Given the description of an element on the screen output the (x, y) to click on. 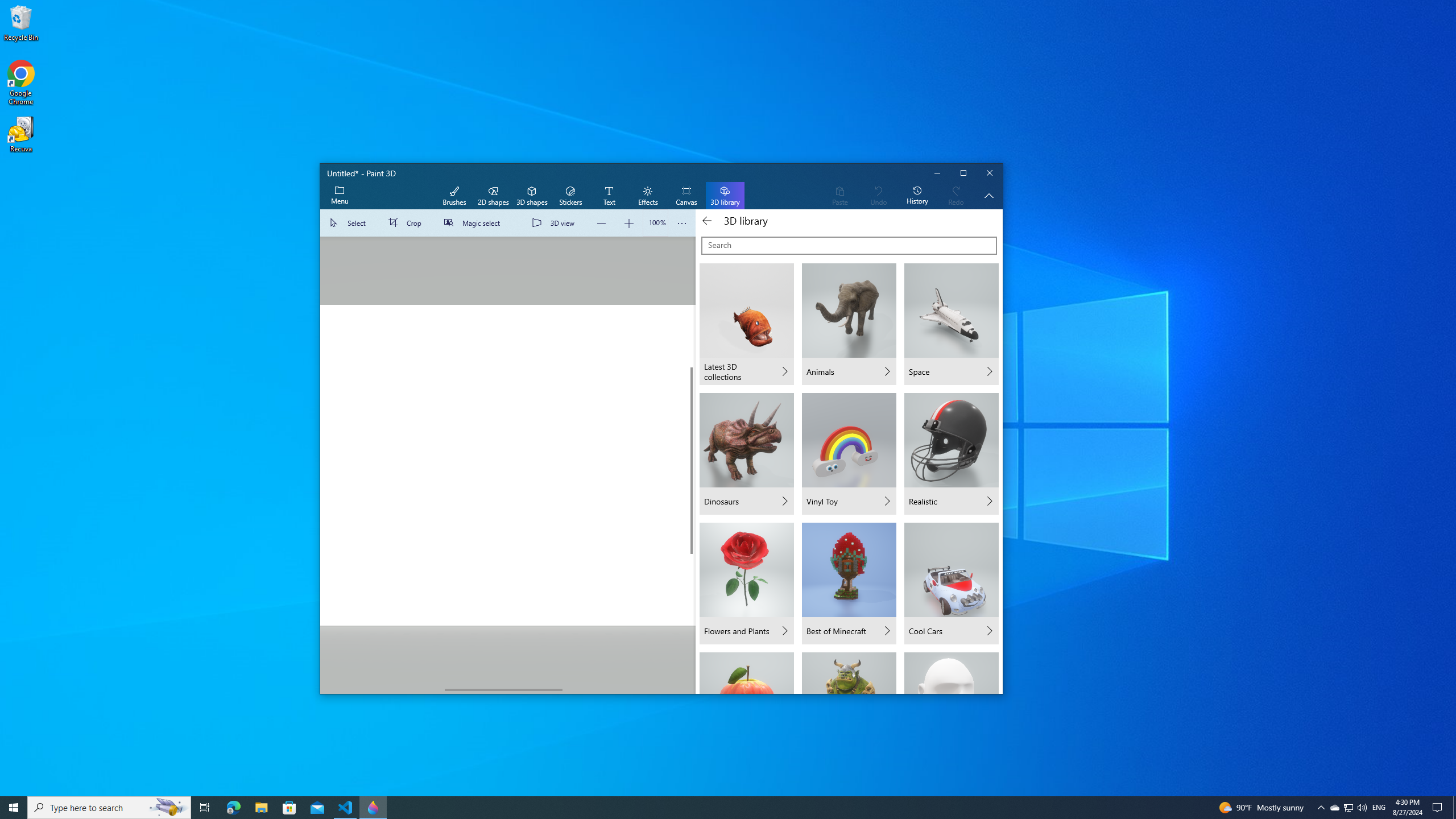
Best of Minecraft (848, 583)
Vertical (691, 460)
History (917, 195)
Brushes (454, 195)
3D library (725, 195)
2D shapes (492, 195)
Zoom in (628, 222)
